Given the description of an element on the screen output the (x, y) to click on. 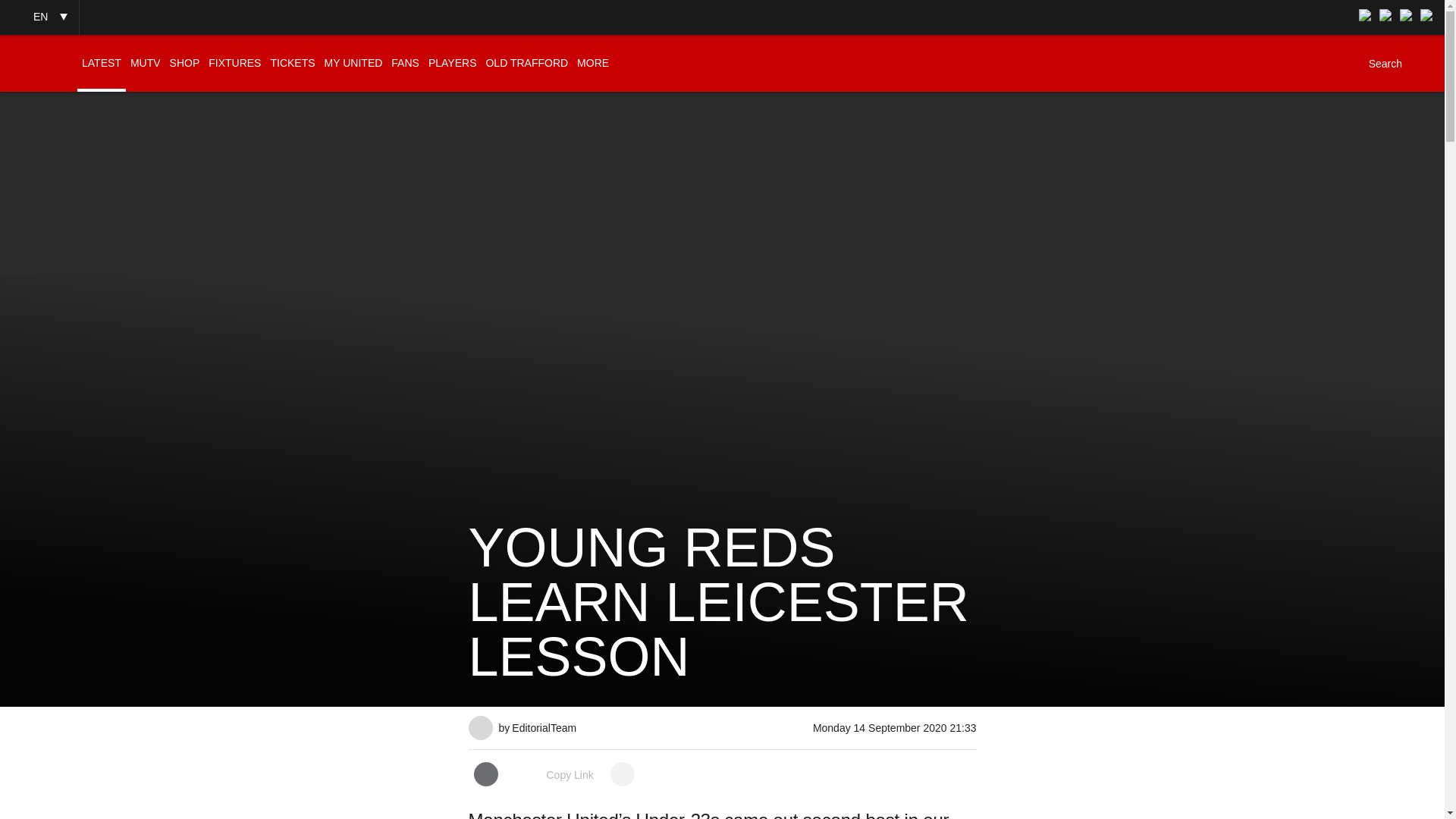
MY UNITED (353, 63)
Copy Link (552, 774)
PLAYERS (452, 63)
OLD TRAFFORD (526, 63)
TICKETS (291, 63)
FIXTURES (233, 63)
